Given the description of an element on the screen output the (x, y) to click on. 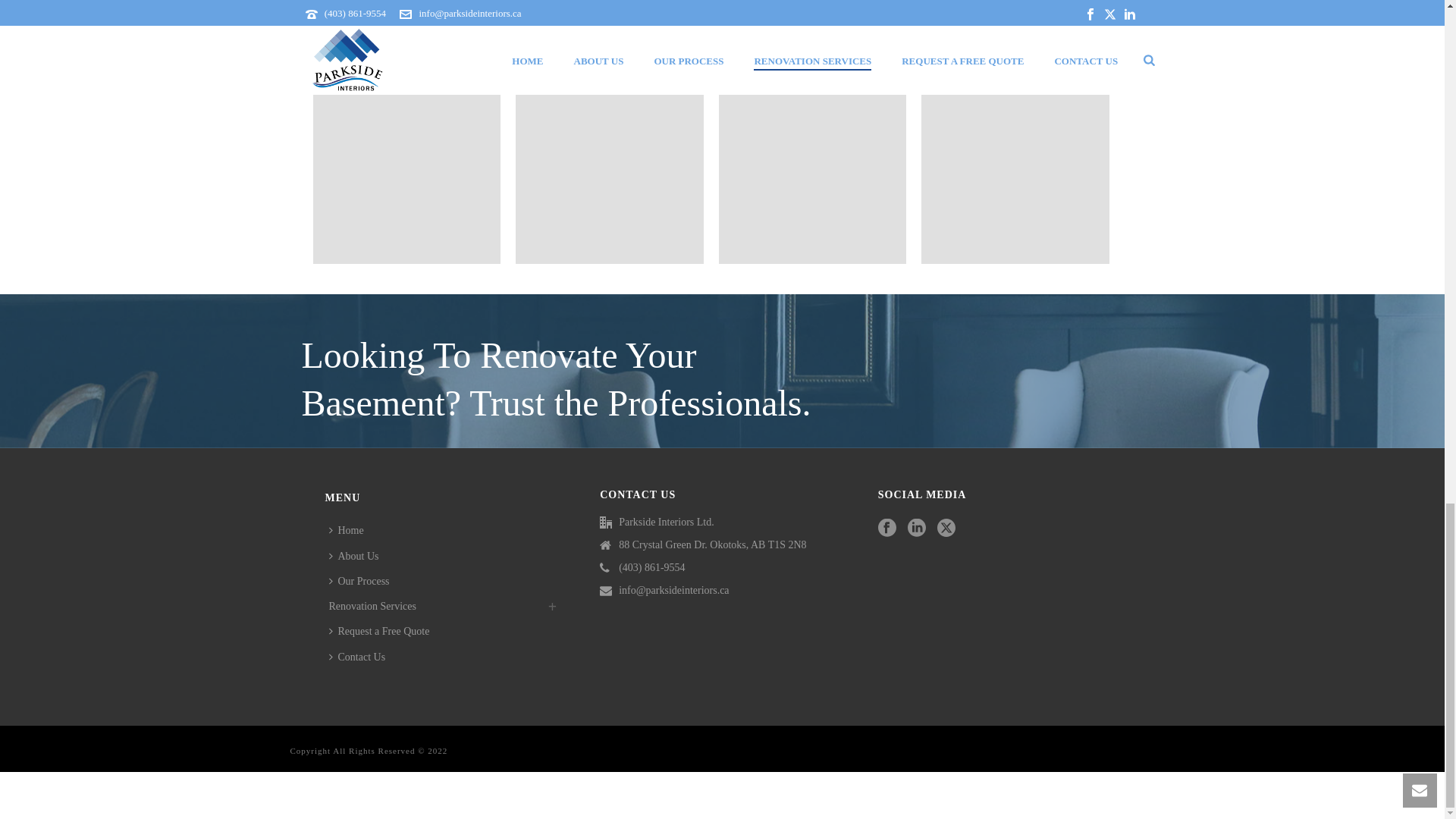
taylor (406, 15)
pexels-photo-104807 (609, 15)
pexels-photo-88737 (813, 15)
